Given the description of an element on the screen output the (x, y) to click on. 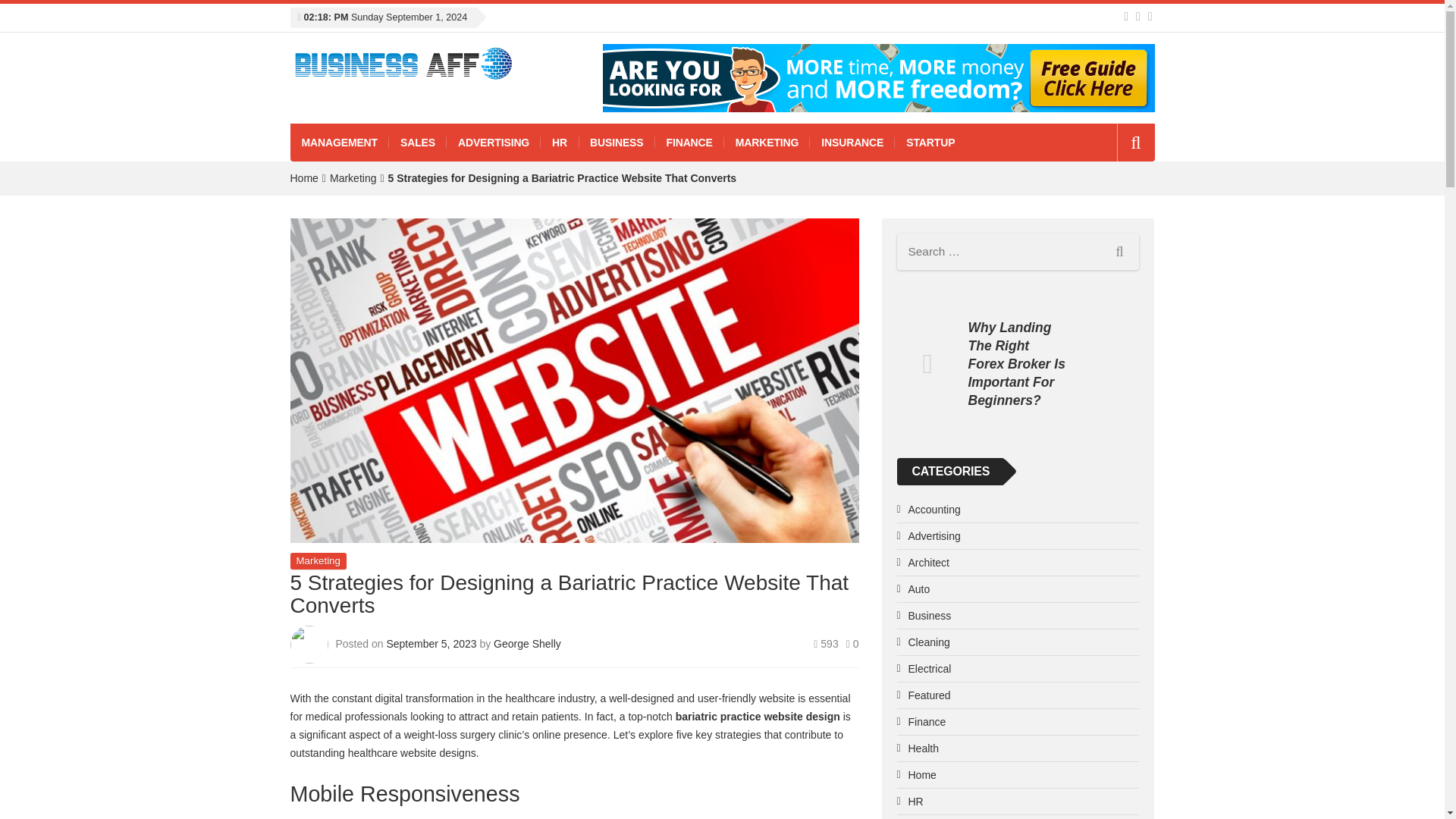
MANAGEMENT (338, 142)
MARKETING (766, 142)
SALES (417, 142)
Marketing (317, 560)
Home (303, 177)
HR (559, 142)
bariatric practice website design (757, 716)
ADVERTISING (493, 142)
FINANCE (689, 142)
